Given the description of an element on the screen output the (x, y) to click on. 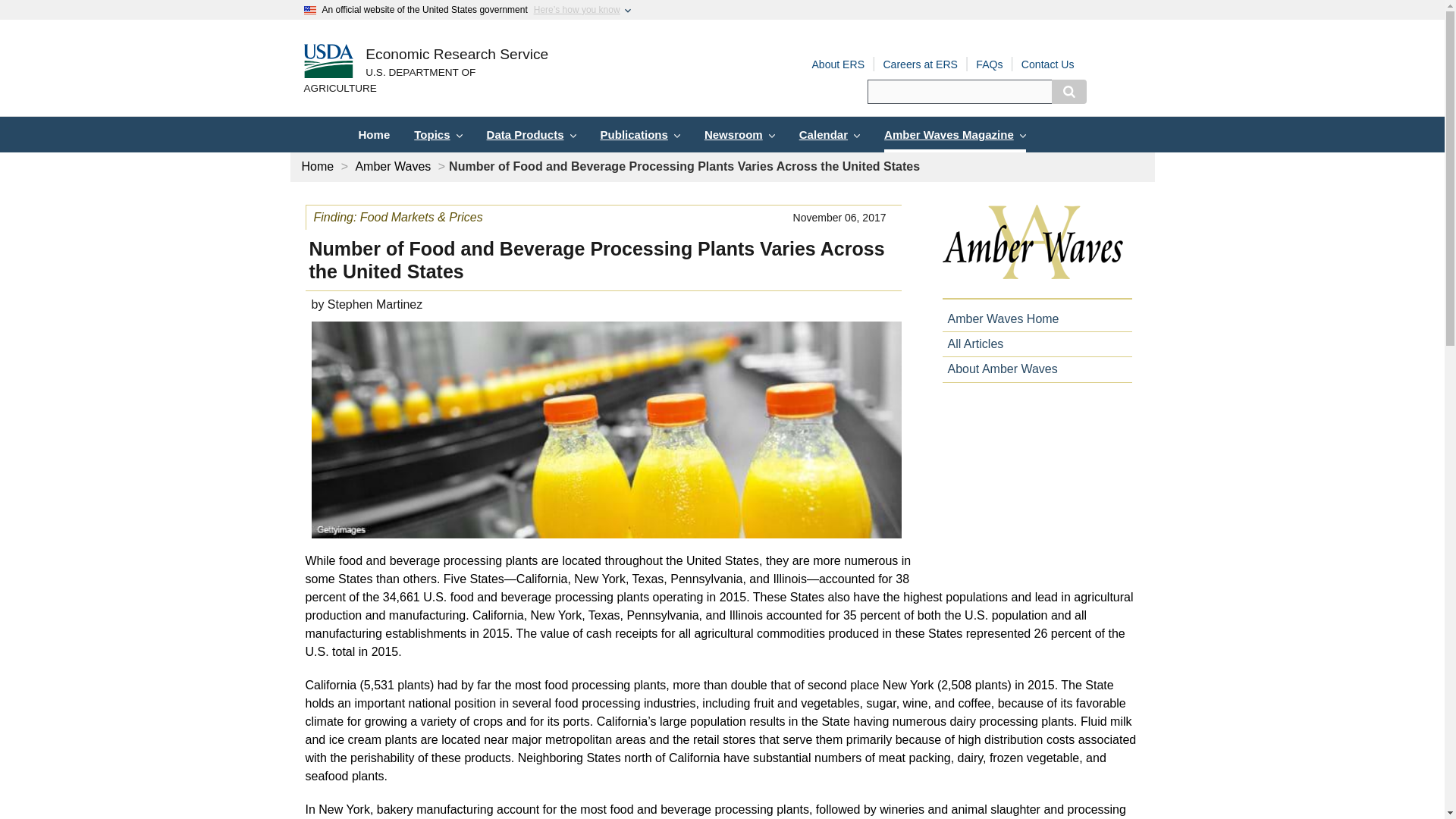
Amber Waves Magazine (955, 134)
Amber Waves (392, 165)
All Articles (972, 343)
Home (456, 54)
Topics (437, 134)
Contact Us (1048, 63)
Amber Waves home (1036, 251)
Careers at ERS (920, 63)
Publications (640, 134)
U.S. DEPARTMENT OF AGRICULTURE (425, 81)
About Amber Waves (999, 368)
Newsroom (740, 134)
Data Products (531, 134)
Calendar (829, 134)
Home (373, 134)
